Given the description of an element on the screen output the (x, y) to click on. 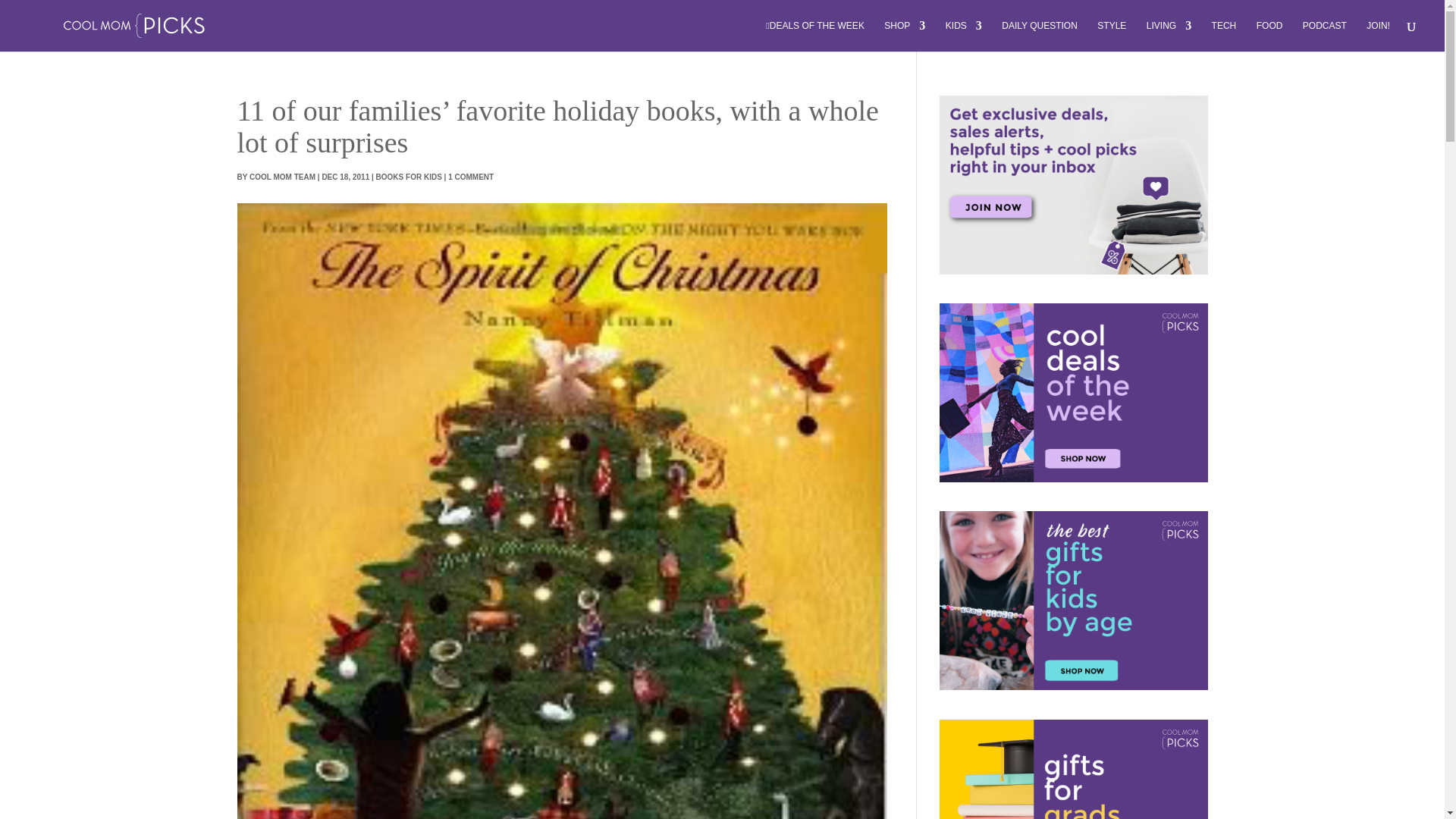
DAILY QUESTION (1039, 35)
JOIN! (1378, 35)
PODCAST (1324, 35)
LIVING (1169, 35)
TECH (1223, 35)
STYLE (1111, 35)
FOOD (1269, 35)
SHOP (903, 35)
Posts by Cool Mom Team (281, 176)
KIDS (962, 35)
